Given the description of an element on the screen output the (x, y) to click on. 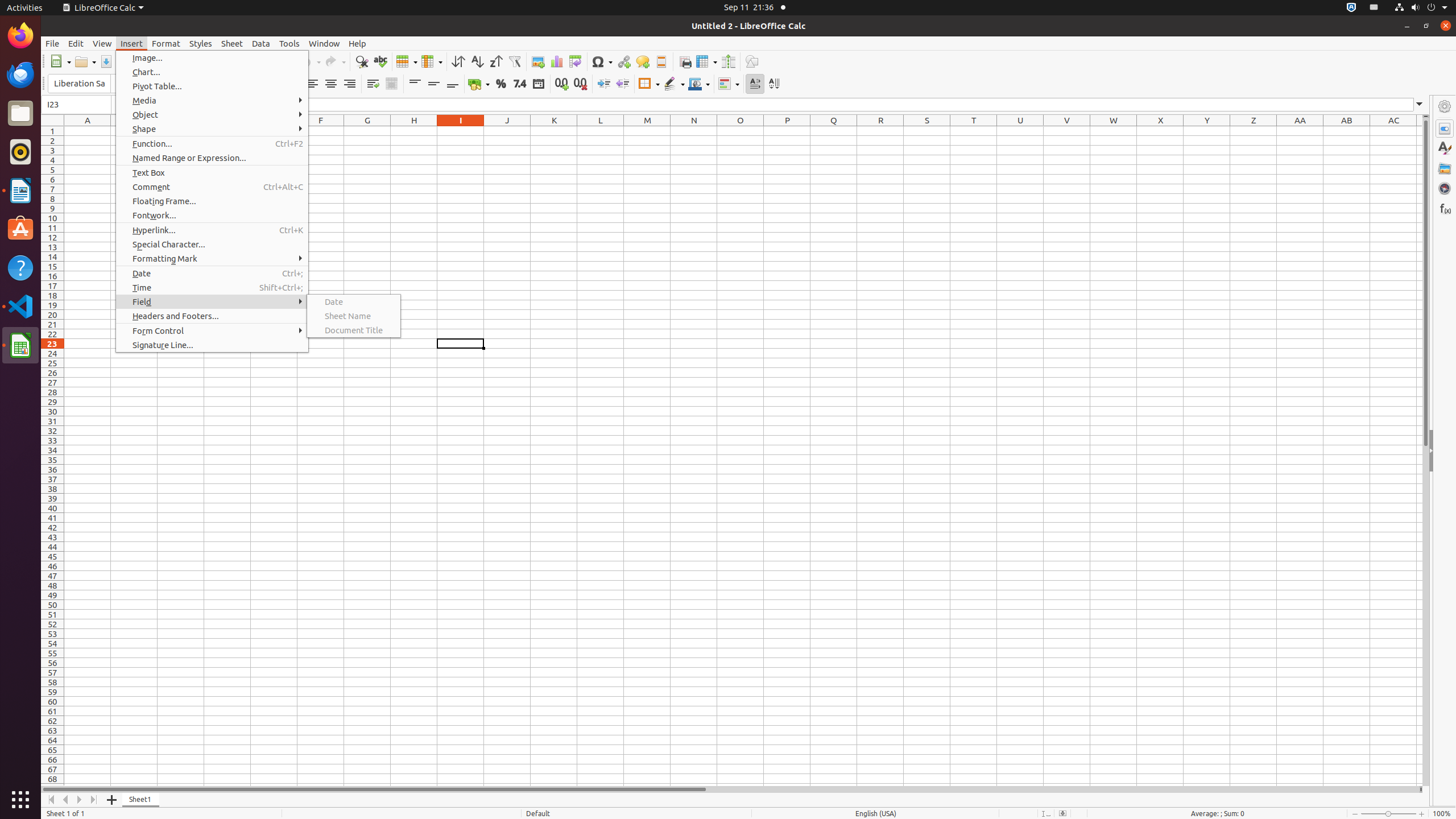
V1 Element type: table-cell (1066, 130)
Align Right Element type: push-button (349, 83)
M1 Element type: table-cell (646, 130)
